Given the description of an element on the screen output the (x, y) to click on. 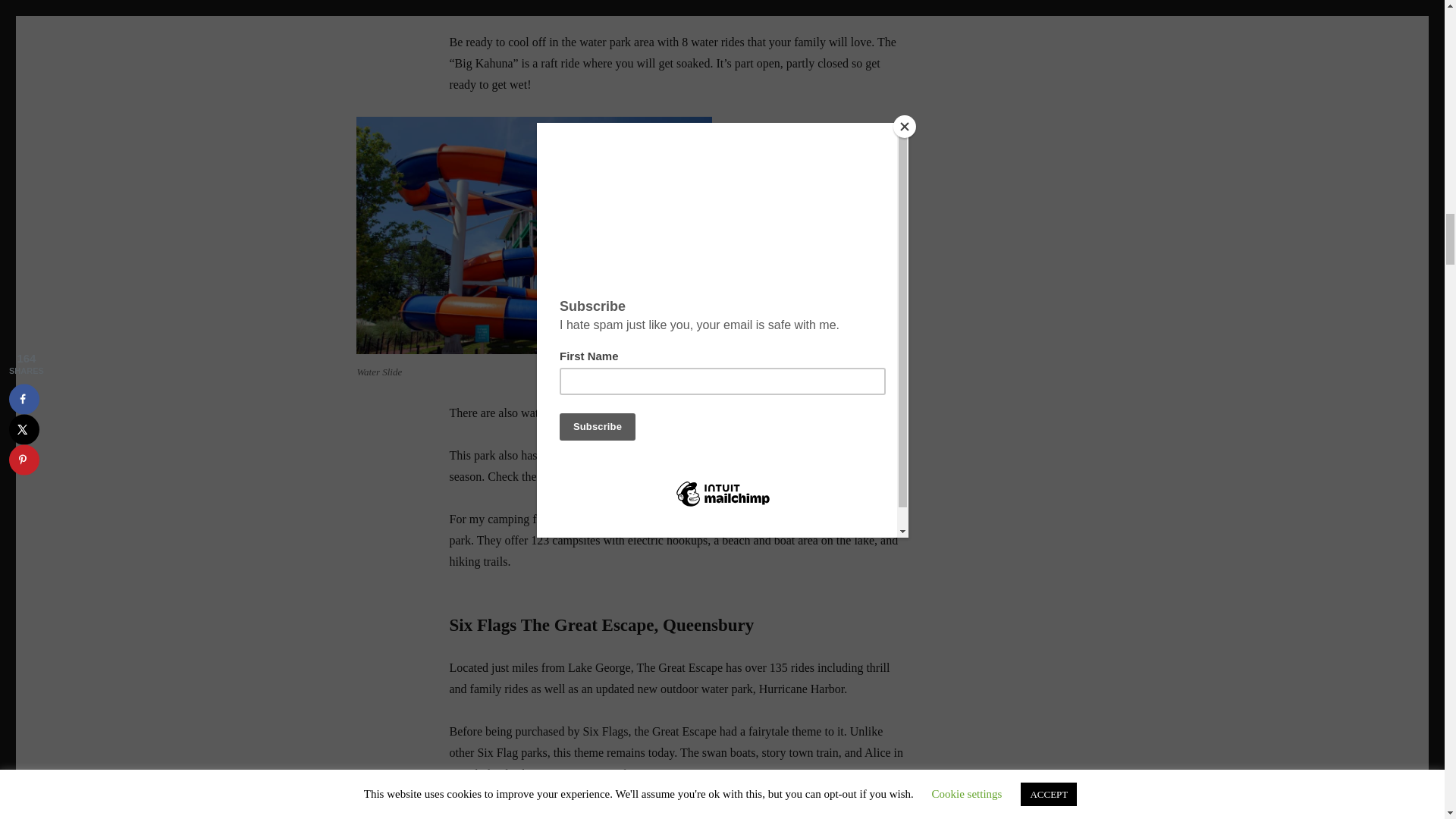
website (565, 476)
